Given the description of an element on the screen output the (x, y) to click on. 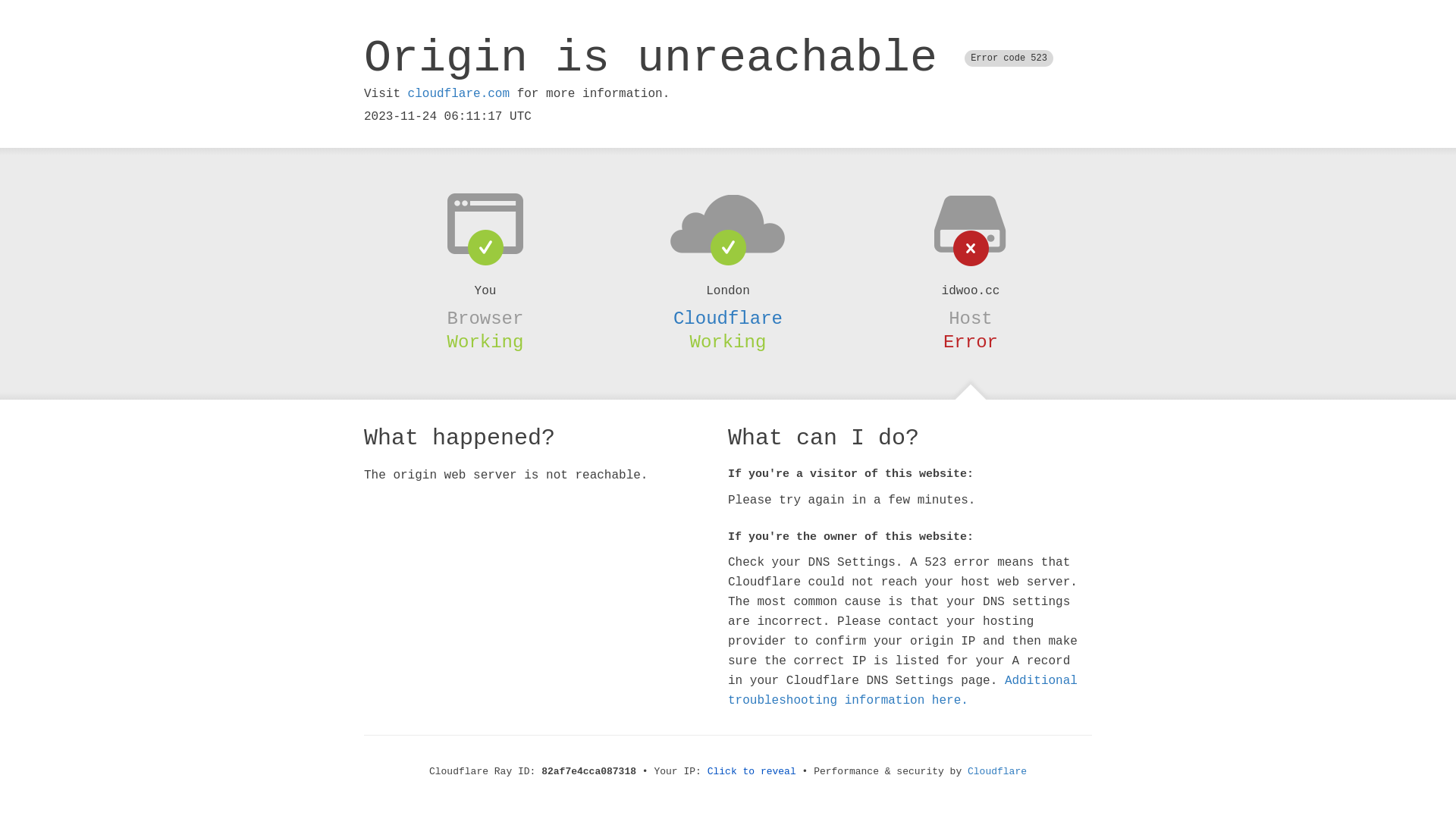
Cloudflare Element type: text (727, 318)
Cloudflare Element type: text (996, 771)
cloudflare.com Element type: text (458, 93)
Click to reveal Element type: text (751, 771)
Additional troubleshooting information here. Element type: text (902, 690)
